Given the description of an element on the screen output the (x, y) to click on. 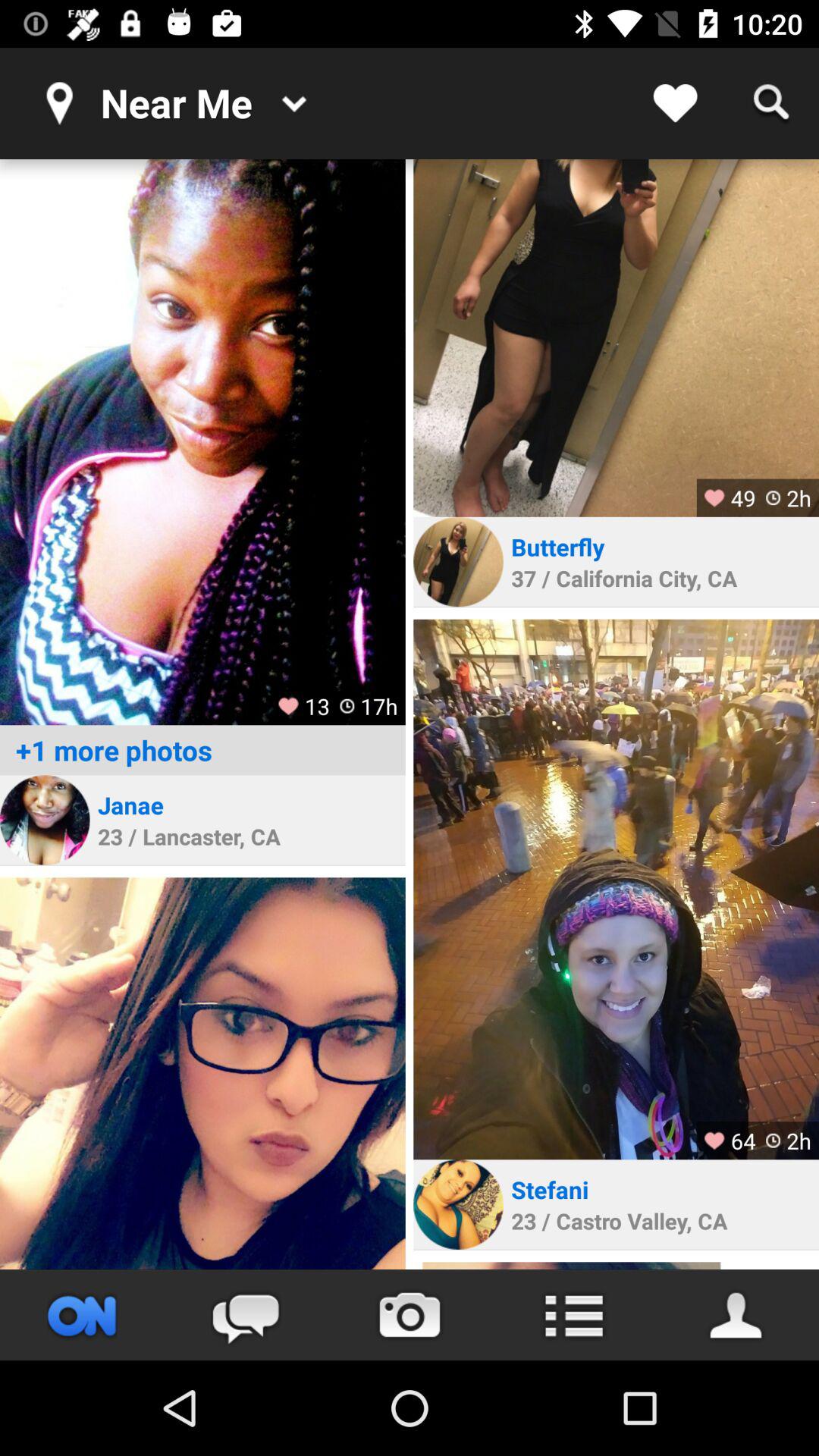
view image (616, 337)
